Given the description of an element on the screen output the (x, y) to click on. 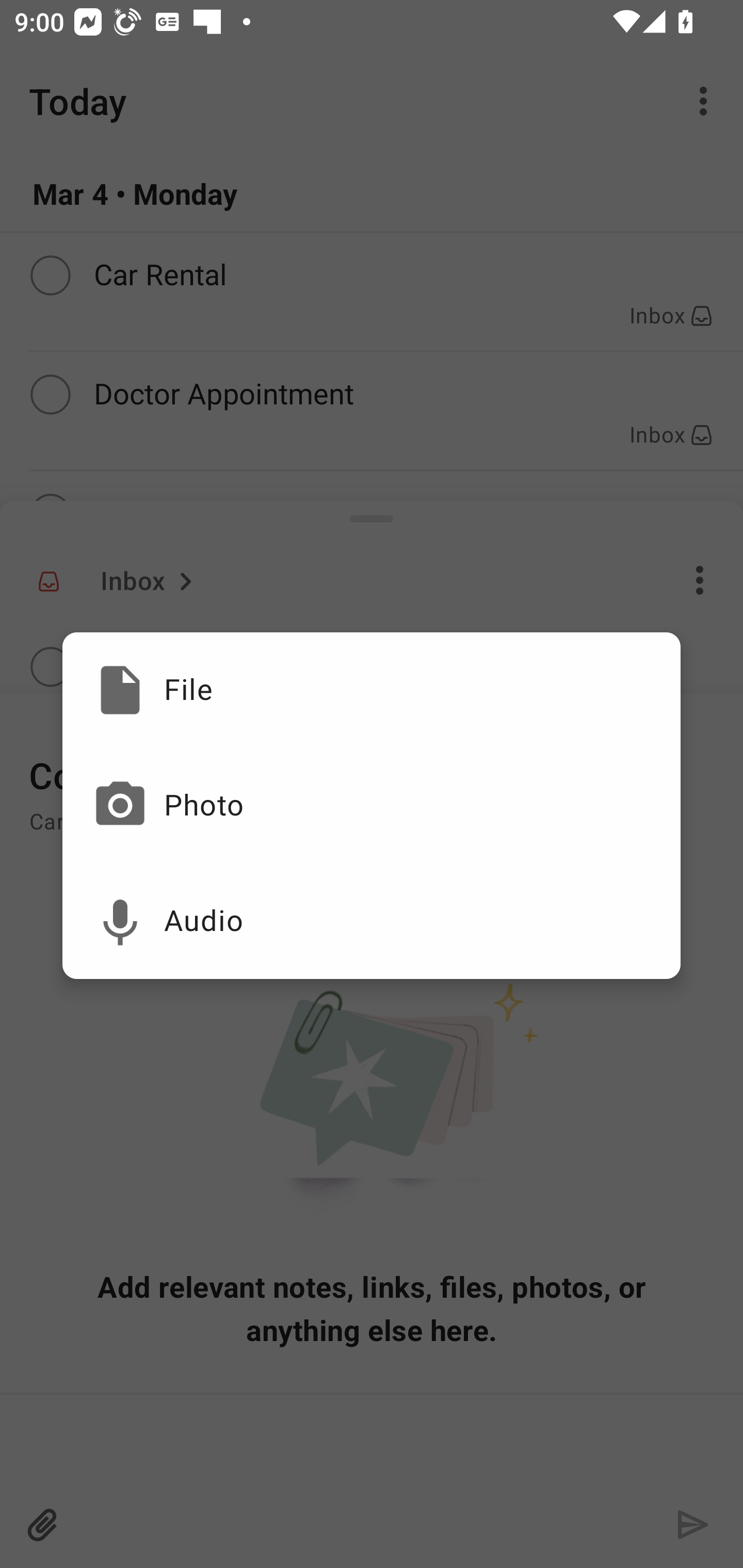
Icon File (371, 689)
Icon Photo (371, 805)
Icon Audio (371, 920)
